Given the description of an element on the screen output the (x, y) to click on. 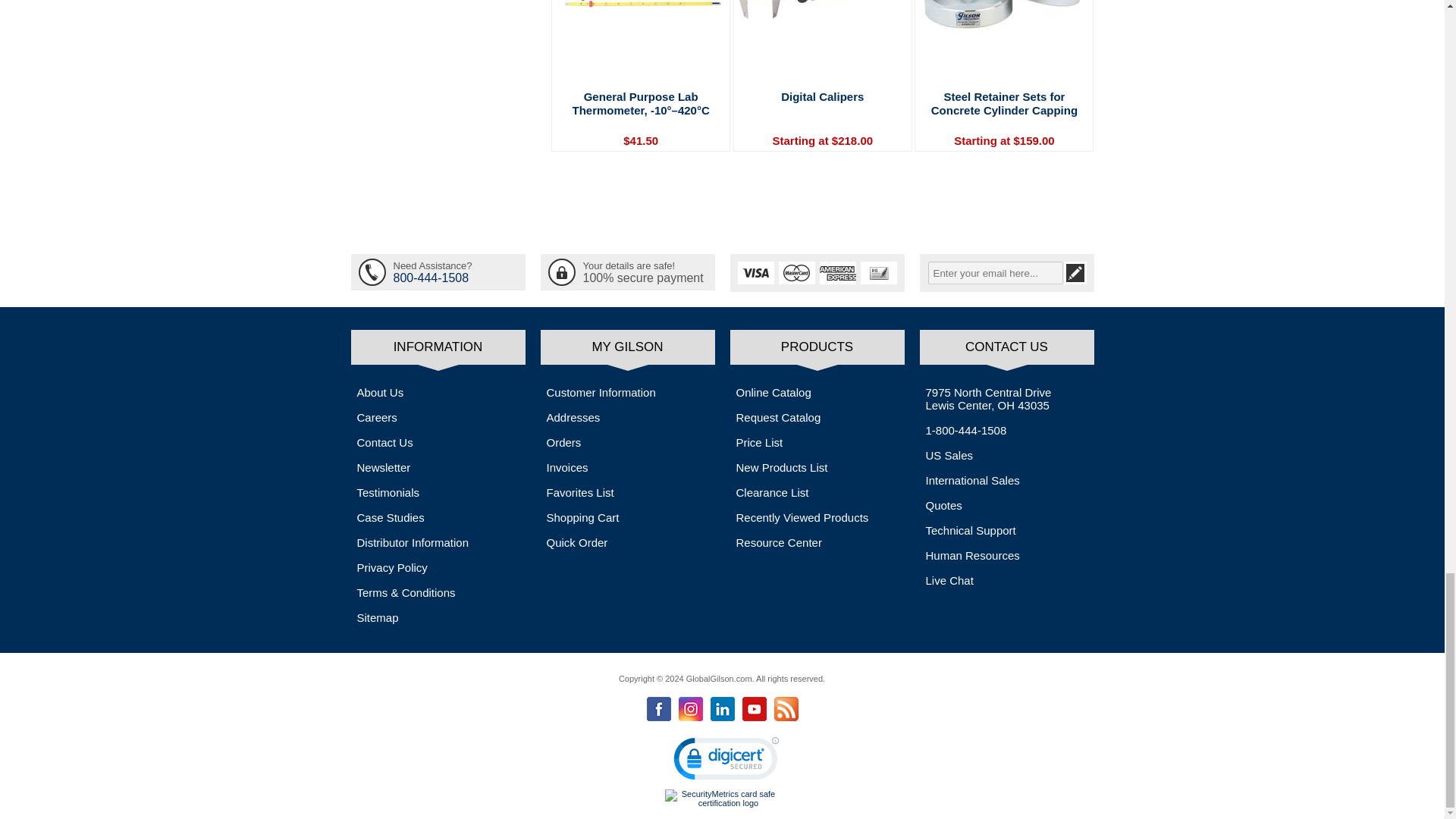
Send (1074, 272)
